Given the description of an element on the screen output the (x, y) to click on. 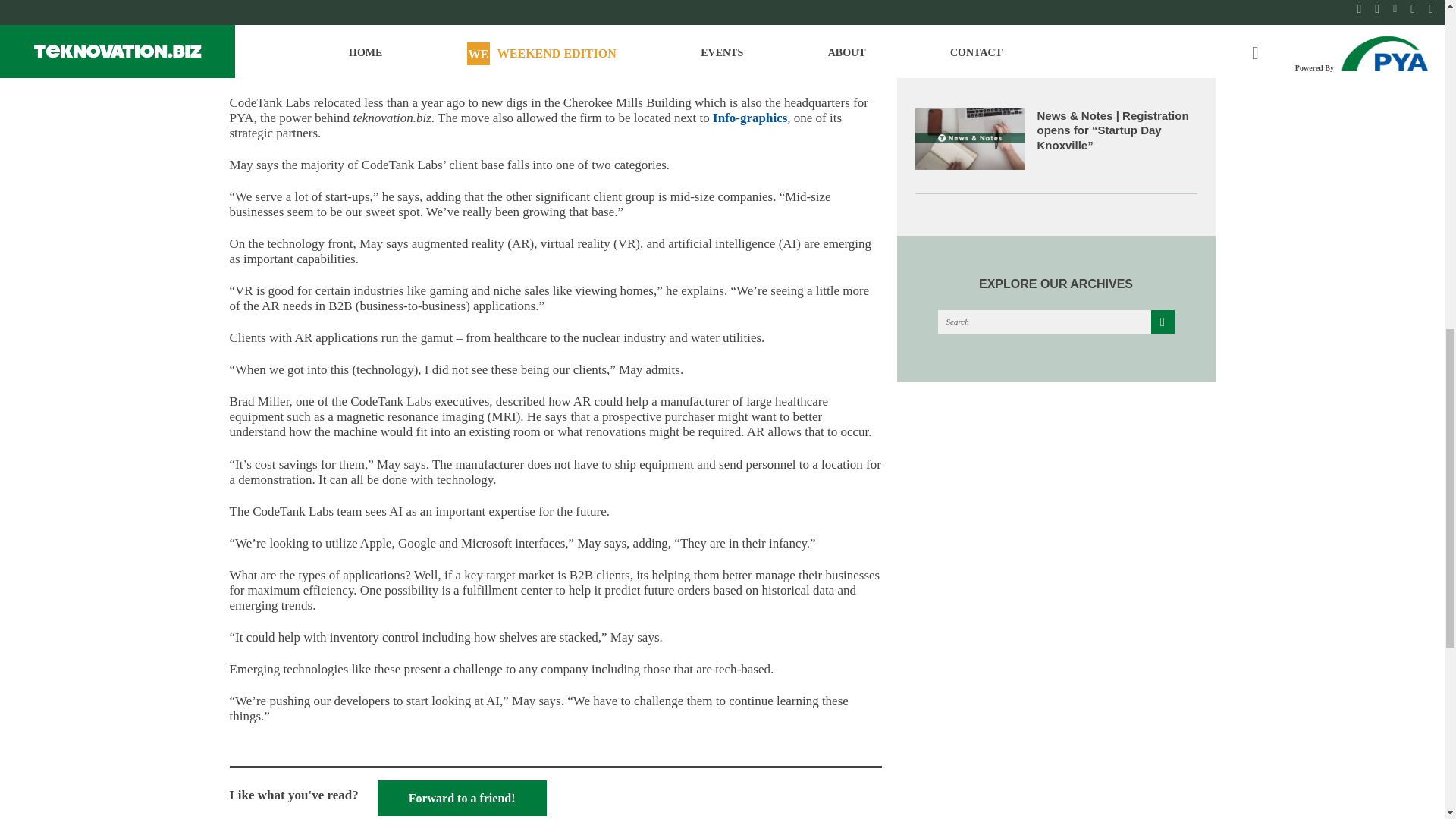
Forward to a Friend by Email (462, 797)
Info-graphics (750, 117)
Forward to a friend! (462, 797)
this 2016 teknovation.biz post (631, 70)
